Given the description of an element on the screen output the (x, y) to click on. 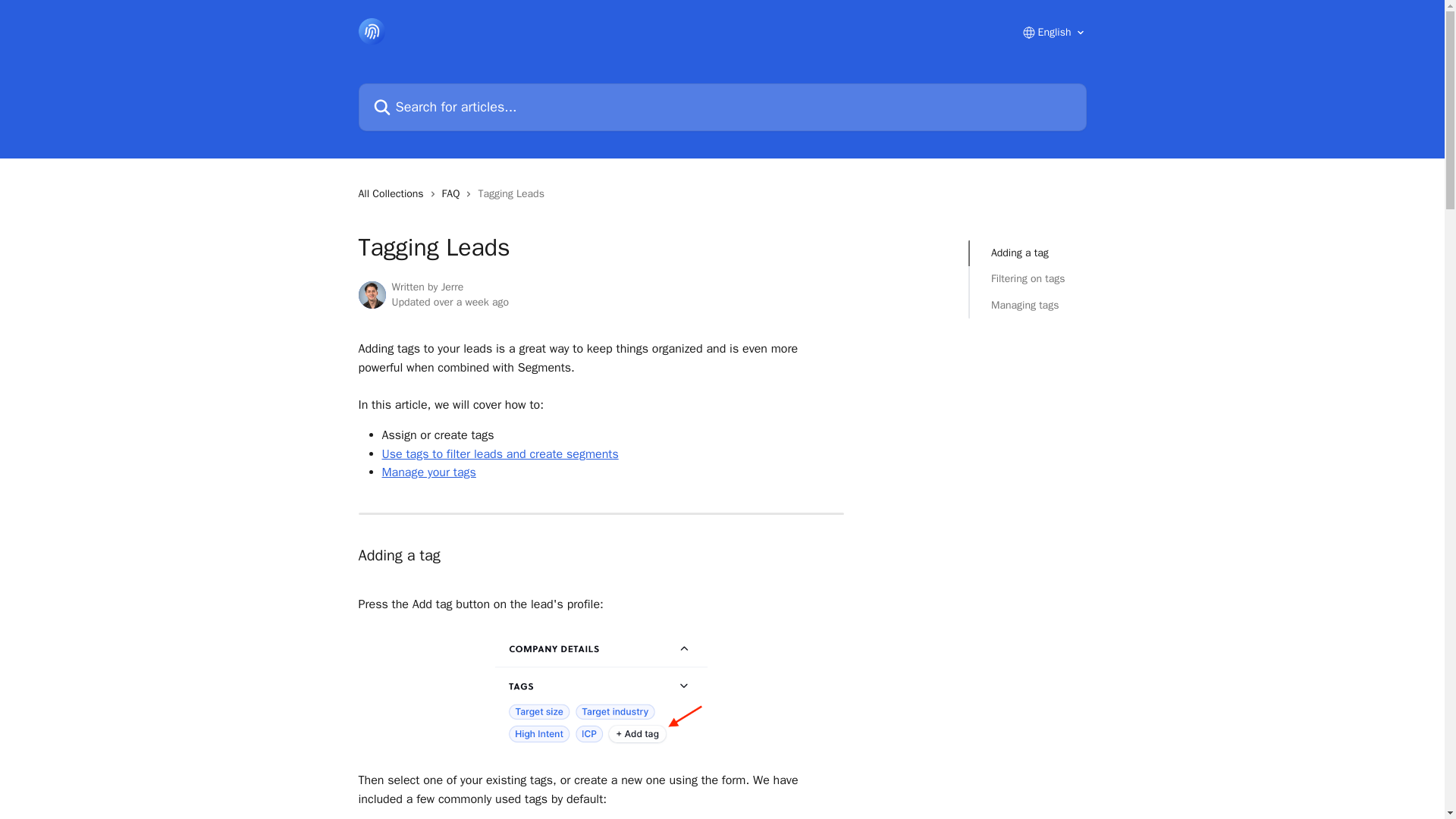
Manage your tags (428, 472)
Filtering on tags (1028, 279)
FAQ (453, 193)
Adding a tag (1028, 252)
Use tags to filter leads and create segments (499, 453)
All Collections (393, 193)
Managing tags (1028, 305)
